Given the description of an element on the screen output the (x, y) to click on. 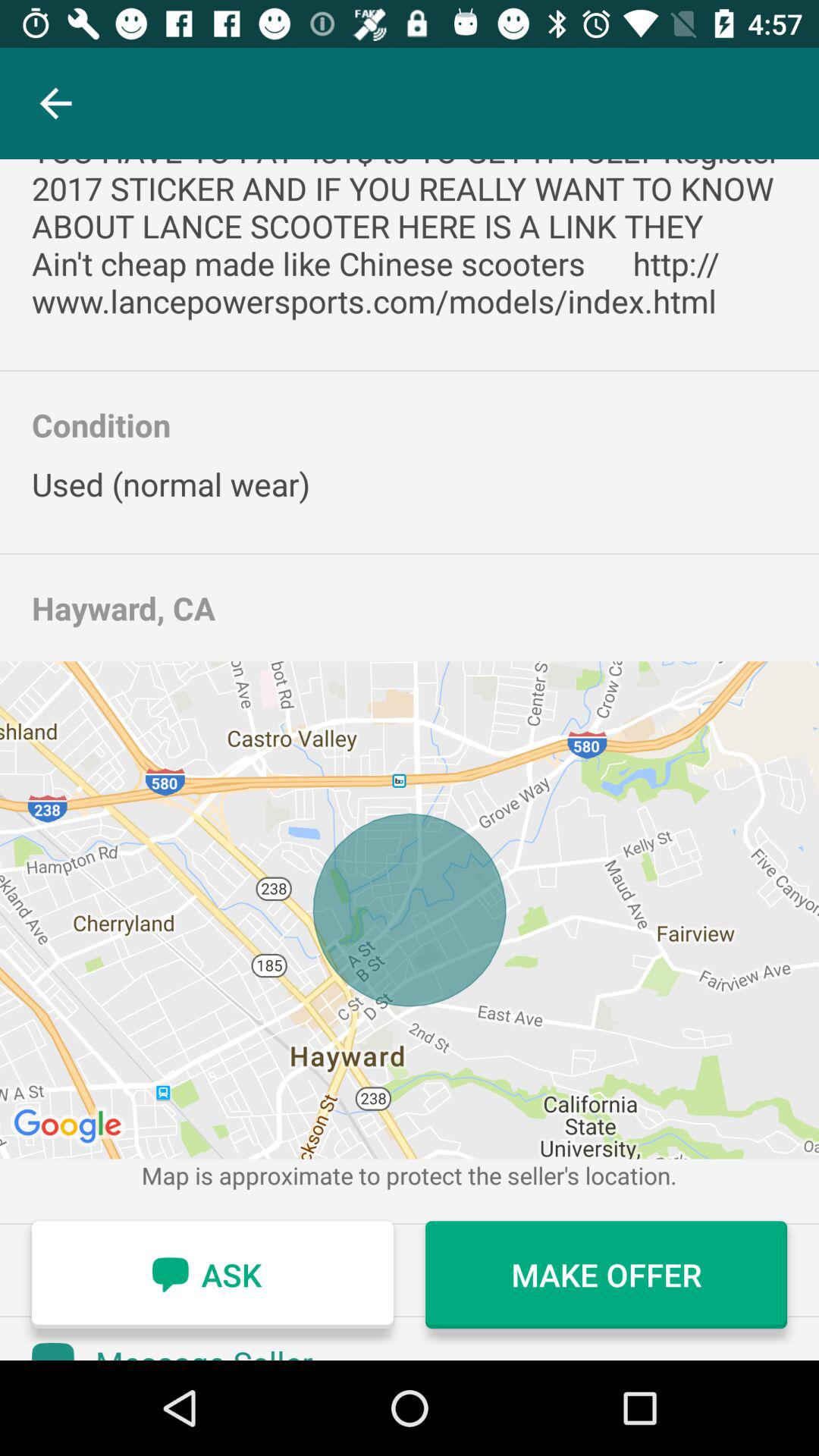
turn off the icon above the i have a icon (55, 103)
